Given the description of an element on the screen output the (x, y) to click on. 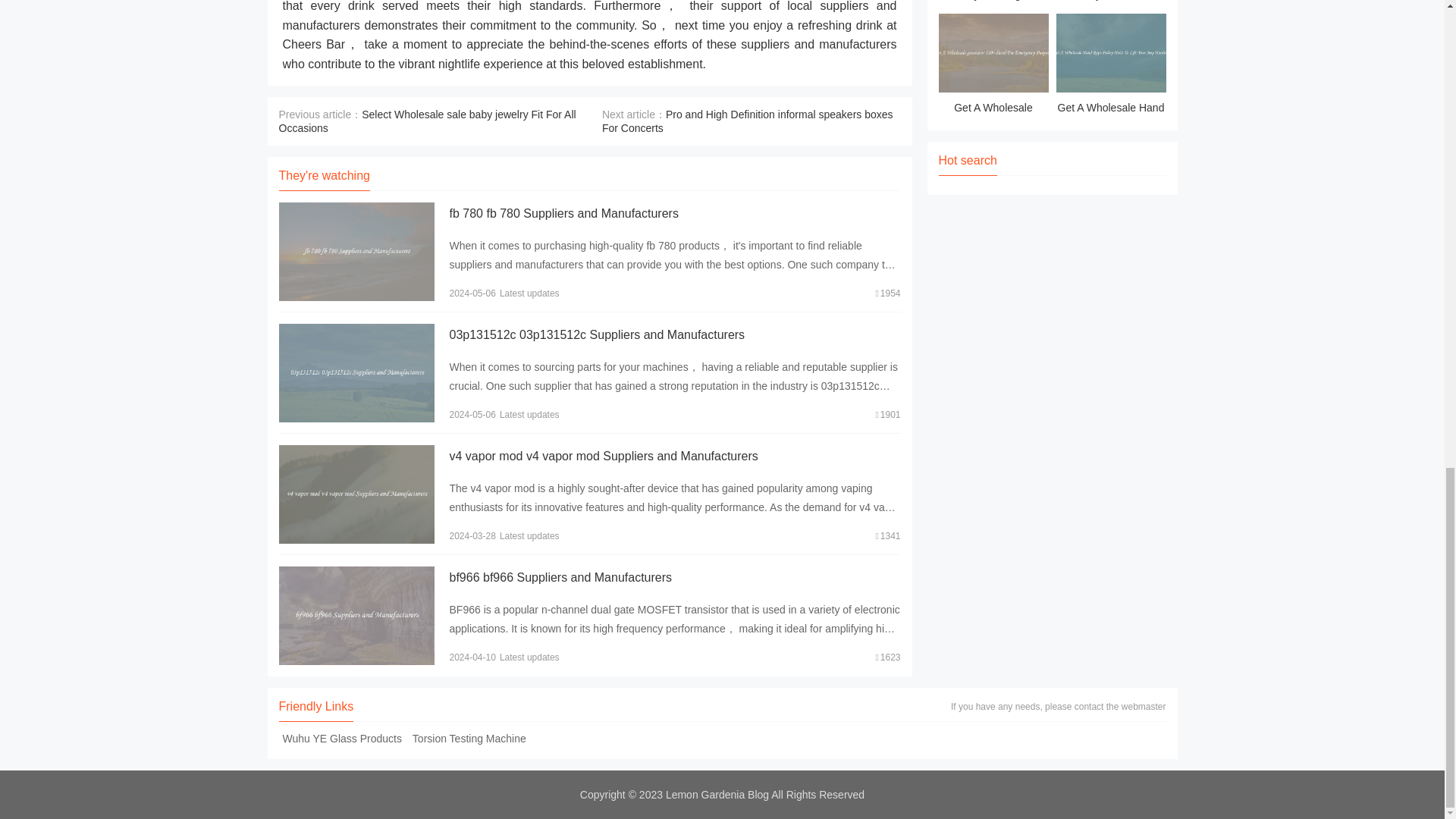
Select Wholesale sale baby jewelry Fit For All Occasions (427, 121)
Torsion Testing Machine (469, 738)
Wuhu YE Glass Products (342, 738)
bf966 bf966 Suppliers and Manufacturers (559, 576)
v4 vapor mod v4 vapor mod Suppliers and Manufacturers (602, 455)
03p131512c 03p131512c Suppliers and Manufacturers (596, 334)
fb 780 fb 780 Suppliers and Manufacturers (563, 213)
Get A Wholesale generator 110v diesel For Emergency Purposes (993, 65)
